Given the description of an element on the screen output the (x, y) to click on. 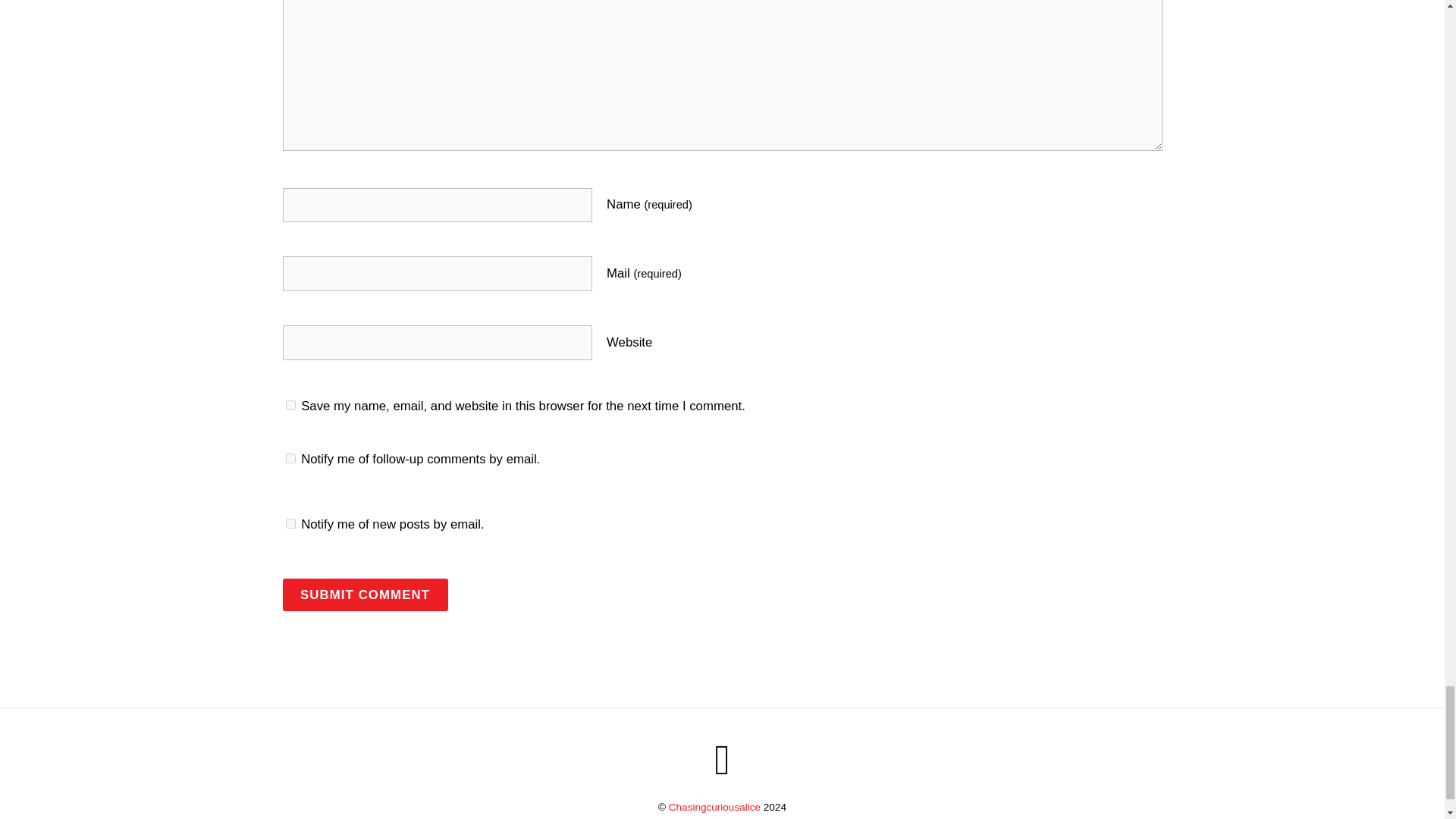
Submit Comment (364, 594)
Chasingcuriousalice (714, 807)
subscribe (290, 523)
subscribe (290, 458)
yes (290, 405)
Submit Comment (364, 594)
